Given the description of an element on the screen output the (x, y) to click on. 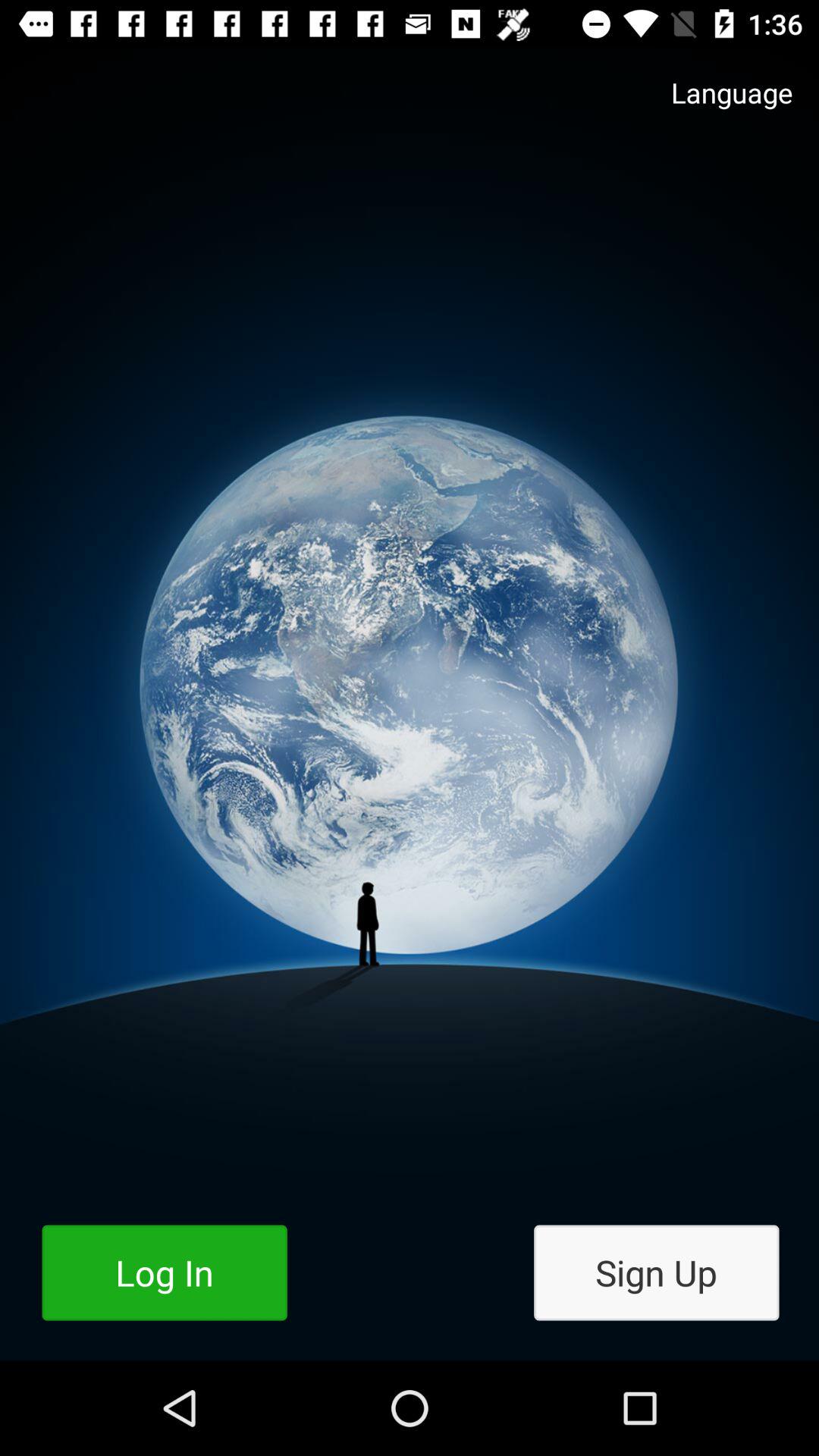
flip until the language (716, 107)
